Given the description of an element on the screen output the (x, y) to click on. 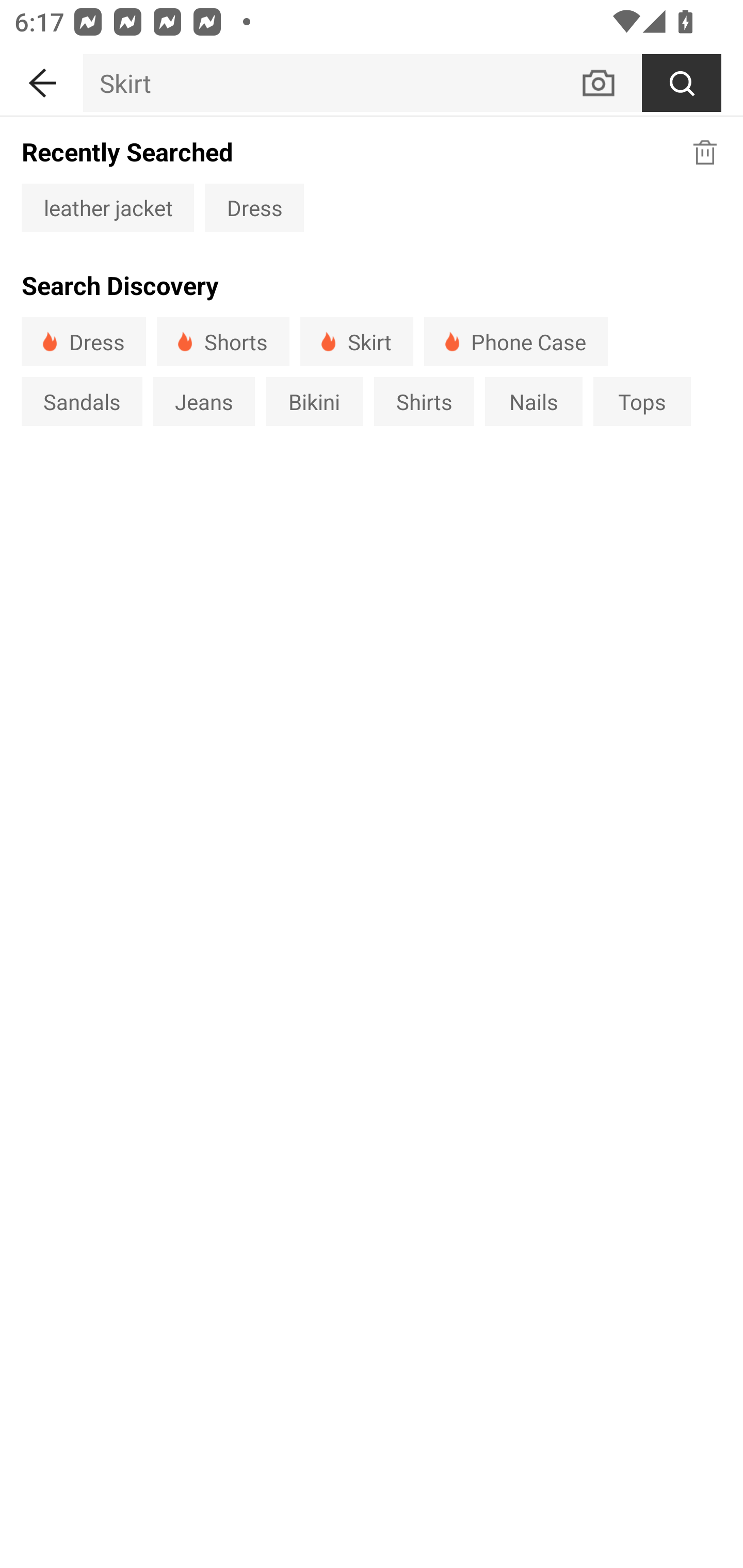
BACK (41, 79)
Skirt (330, 82)
leather jacket (107, 207)
Dress (254, 207)
Dress (83, 341)
Shorts (222, 341)
Skirt (356, 341)
Phone Case (515, 341)
Sandals (81, 401)
Jeans (203, 401)
Bikini (314, 401)
Shirts (423, 401)
Nails (533, 401)
Tops (641, 401)
